Given the description of an element on the screen output the (x, y) to click on. 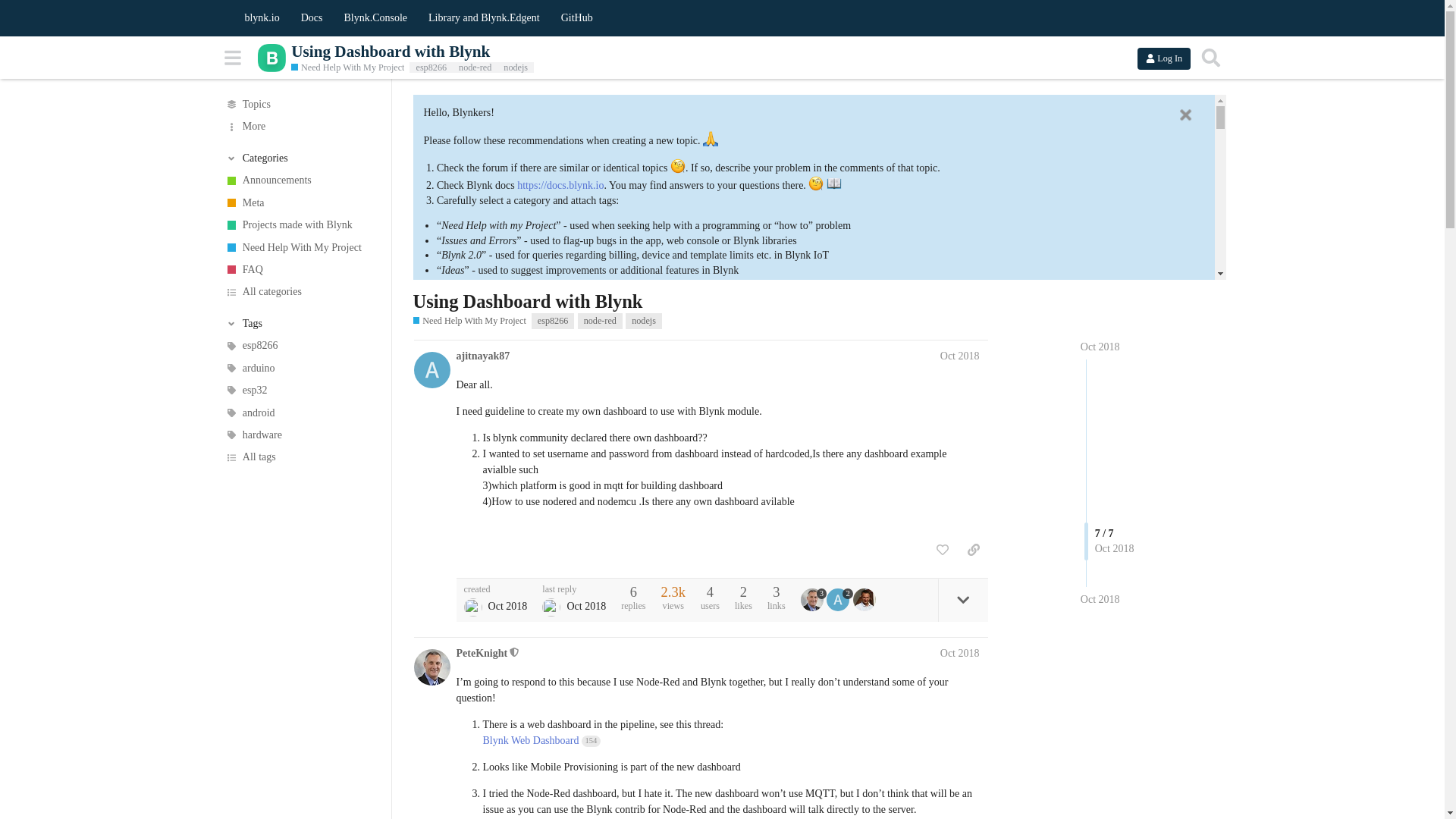
Log In (1164, 58)
Sidebar (232, 57)
Need Help With My Project (347, 67)
Tags (300, 323)
Toggle section (300, 323)
Dismiss this banner (1185, 114)
More (300, 126)
hardware (300, 434)
Need Help With My Project (300, 247)
All topics (300, 104)
Search (1210, 57)
All categories (300, 291)
